Given the description of an element on the screen output the (x, y) to click on. 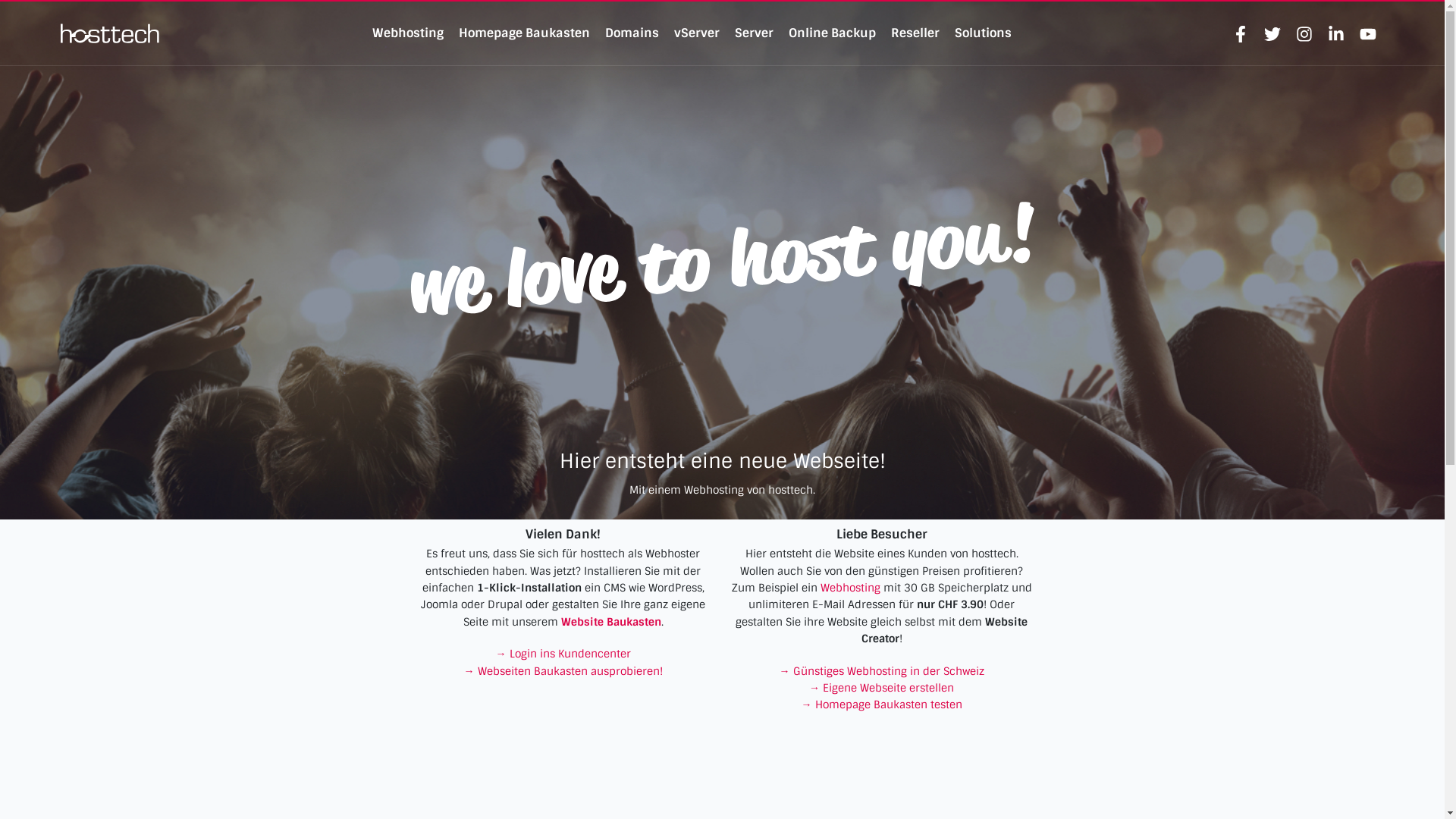
Website Baukasten Element type: text (611, 621)
Webhosting Element type: text (407, 32)
Reseller Element type: text (915, 32)
Domains Element type: text (631, 32)
Server Element type: text (753, 32)
Homepage Baukasten Element type: text (523, 32)
Webhosting Element type: text (850, 587)
Solutions Element type: text (982, 32)
Online Backup Element type: text (831, 32)
vServer Element type: text (696, 32)
